Given the description of an element on the screen output the (x, y) to click on. 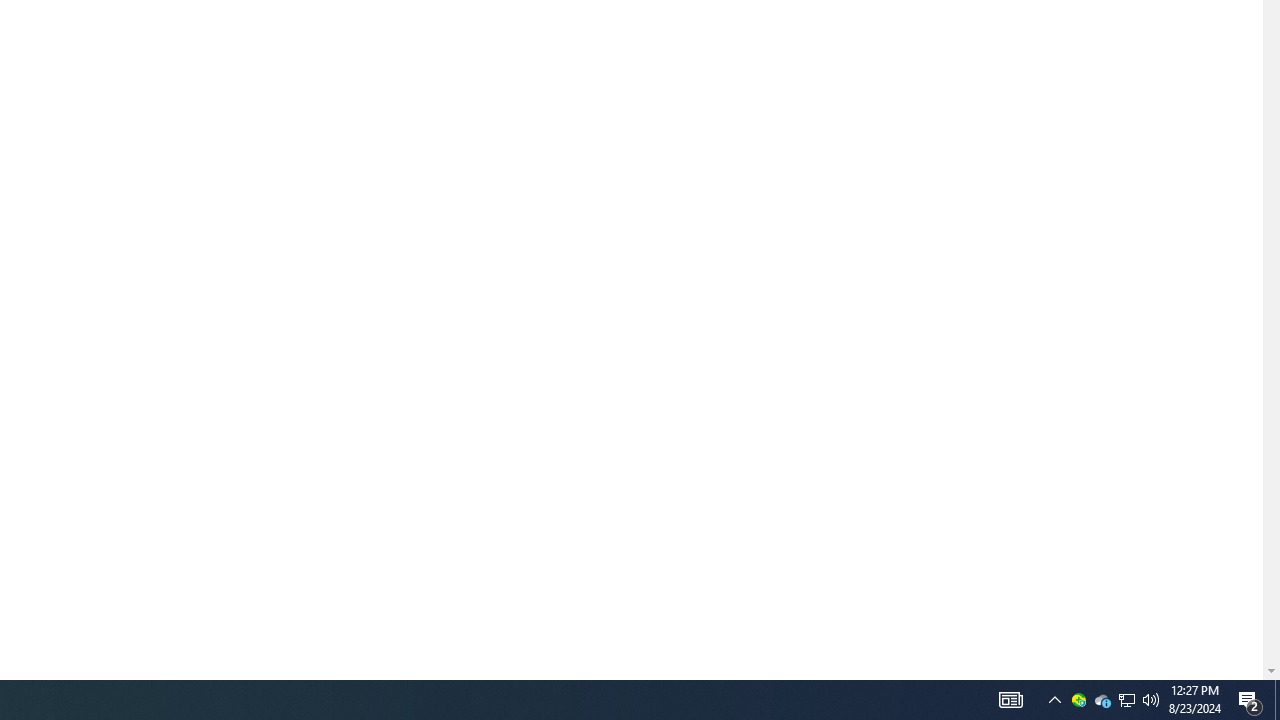
User Promoted Notification Area (1126, 699)
Notification Chevron (1055, 699)
Action Center, 2 new notifications (1250, 699)
AutomationID: 4105 (1010, 699)
Show desktop (1277, 699)
System Promoted Notification Area (1126, 699)
Q2790: 100% (1078, 699)
